Given the description of an element on the screen output the (x, y) to click on. 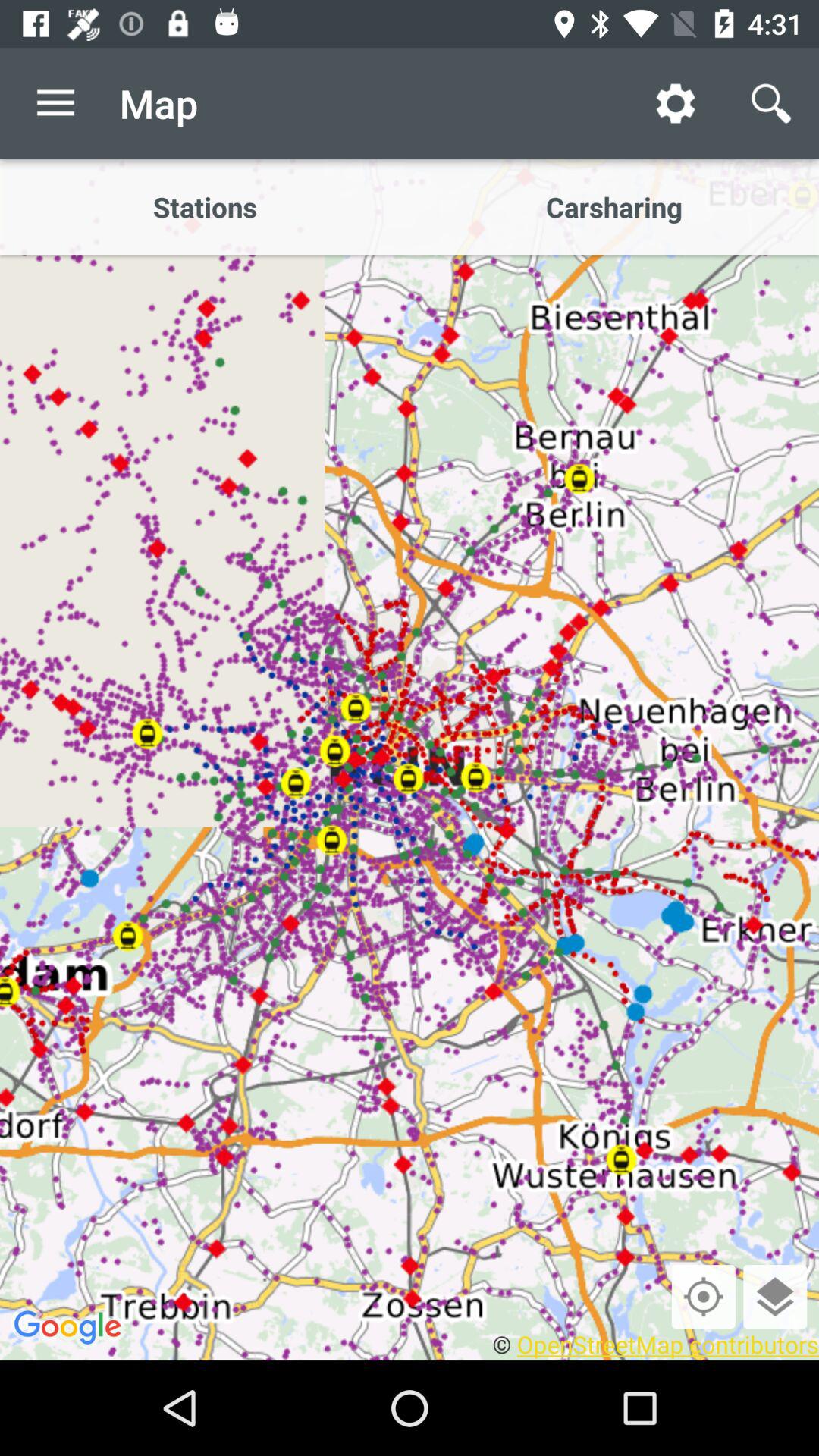
click on the first icon on the bottom right corner of the page (703, 1297)
click on search icon below time (771, 103)
click on the text bottom of right corner (656, 1343)
